Given the description of an element on the screen output the (x, y) to click on. 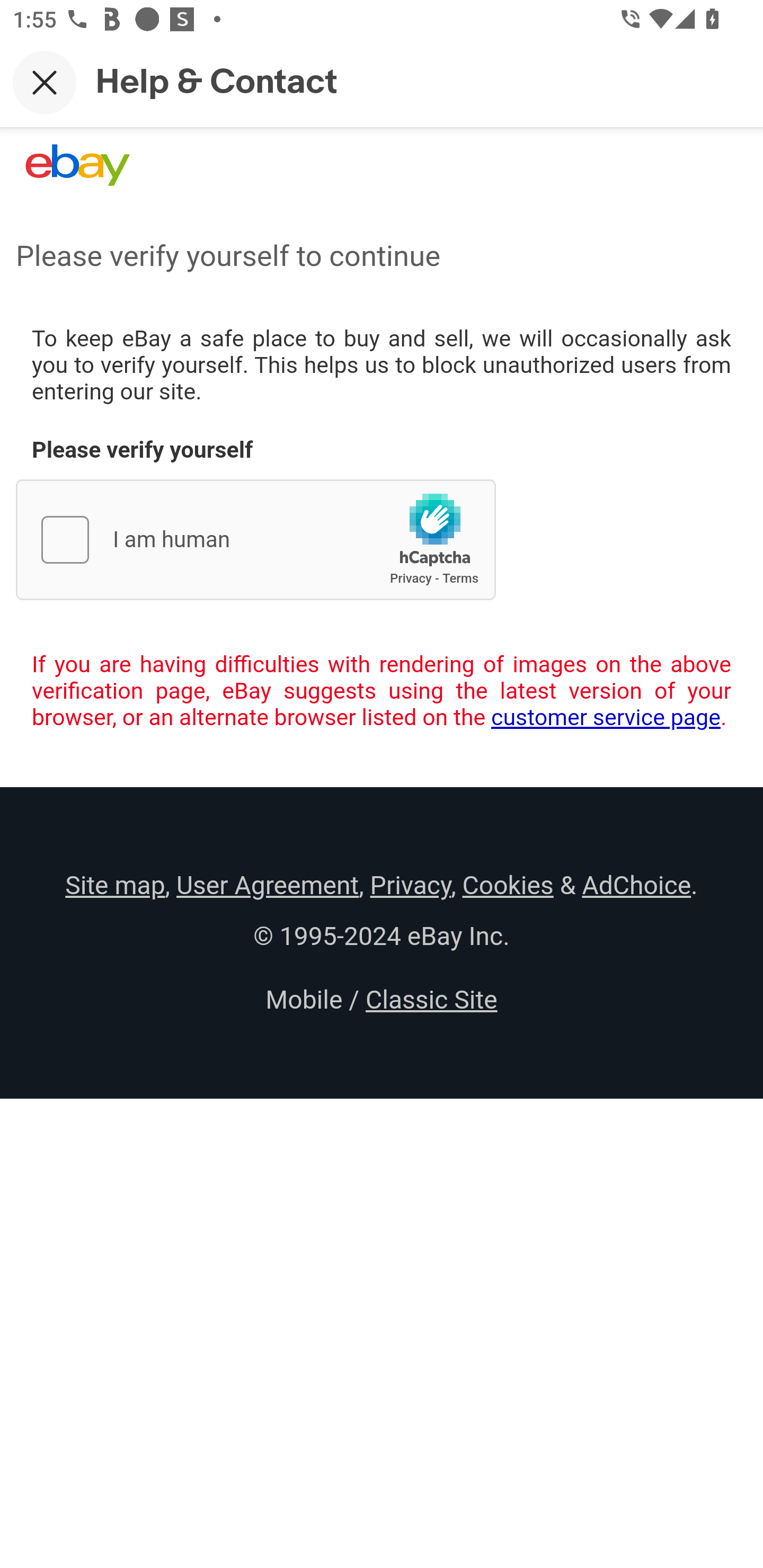
Close (44, 82)
eBay Home (77, 165)
hCaptcha Privacy Policy Privacy (410, 578)
hCaptcha Terms of Service Terms (459, 578)
customer service page (605, 717)
Site map (114, 884)
User Agreement (266, 884)
Privacy (409, 884)
Cookies (507, 884)
AdChoice (636, 884)
